Given the description of an element on the screen output the (x, y) to click on. 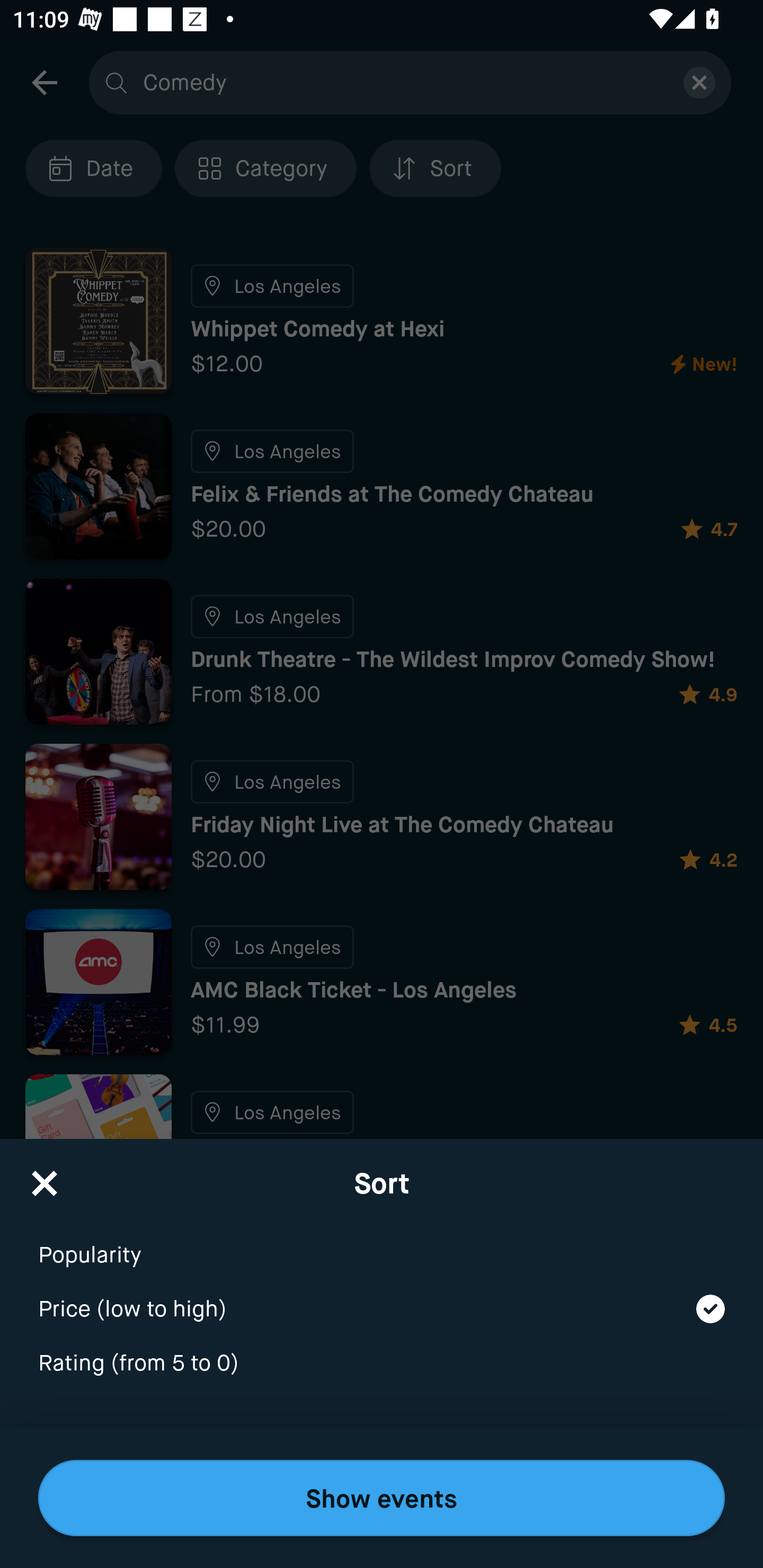
CloseButton (44, 1177)
Popularity (381, 1243)
Price (low to high) Selected Icon (381, 1297)
Rating (from 5 to 0) (381, 1362)
Show events (381, 1497)
